Given the description of an element on the screen output the (x, y) to click on. 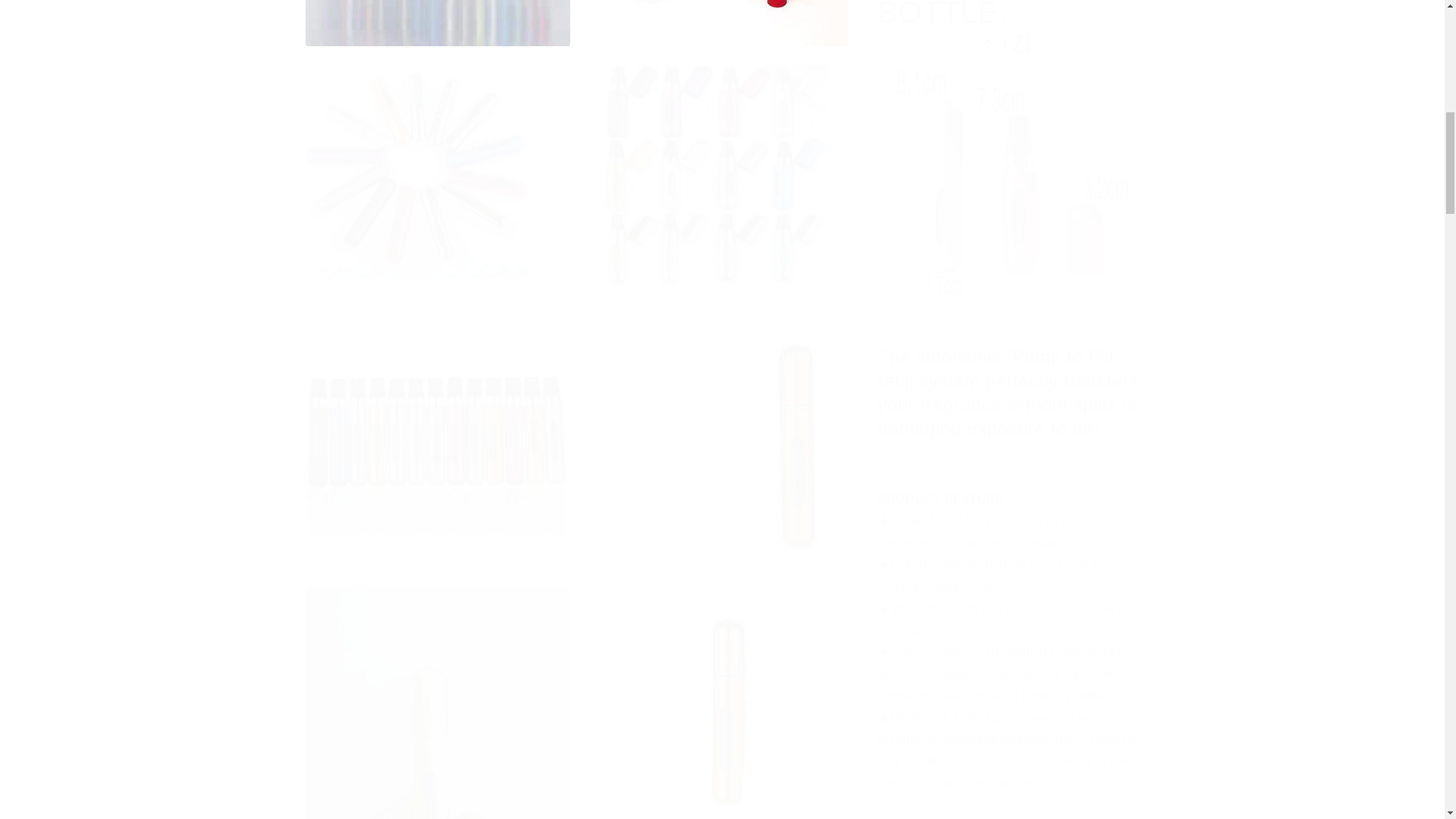
Open media 3 in modal (714, 22)
Open media 2 in modal (437, 22)
Open media 6 in modal (437, 438)
Open media 9 in modal (714, 703)
Open media 5 in modal (714, 173)
Open media 8 in modal (437, 703)
Open media 4 in modal (437, 173)
Open media 7 in modal (714, 438)
